Given the description of an element on the screen output the (x, y) to click on. 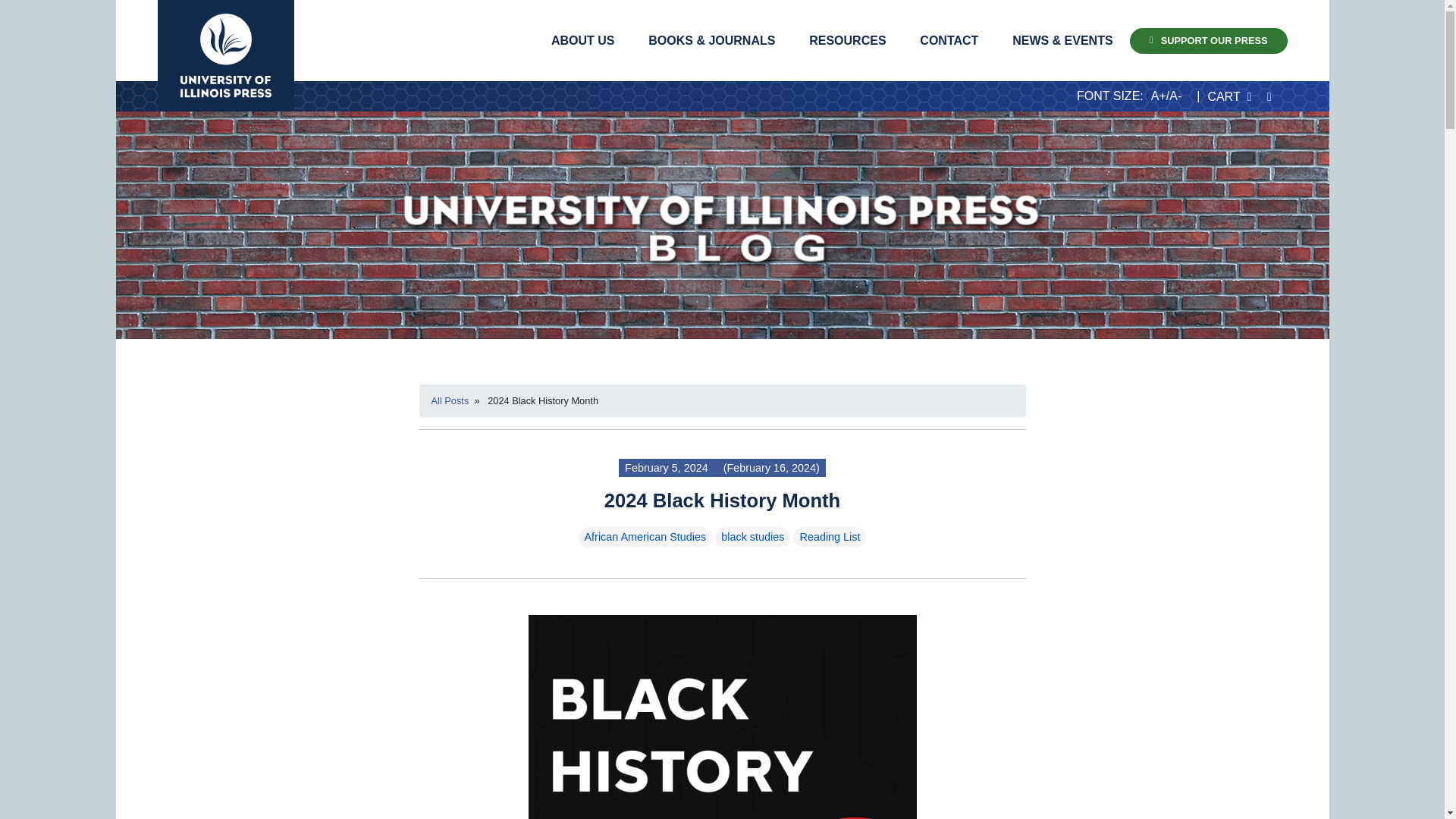
University Press (225, 55)
ABOUT US (582, 40)
RESOURCES (847, 40)
